Given the description of an element on the screen output the (x, y) to click on. 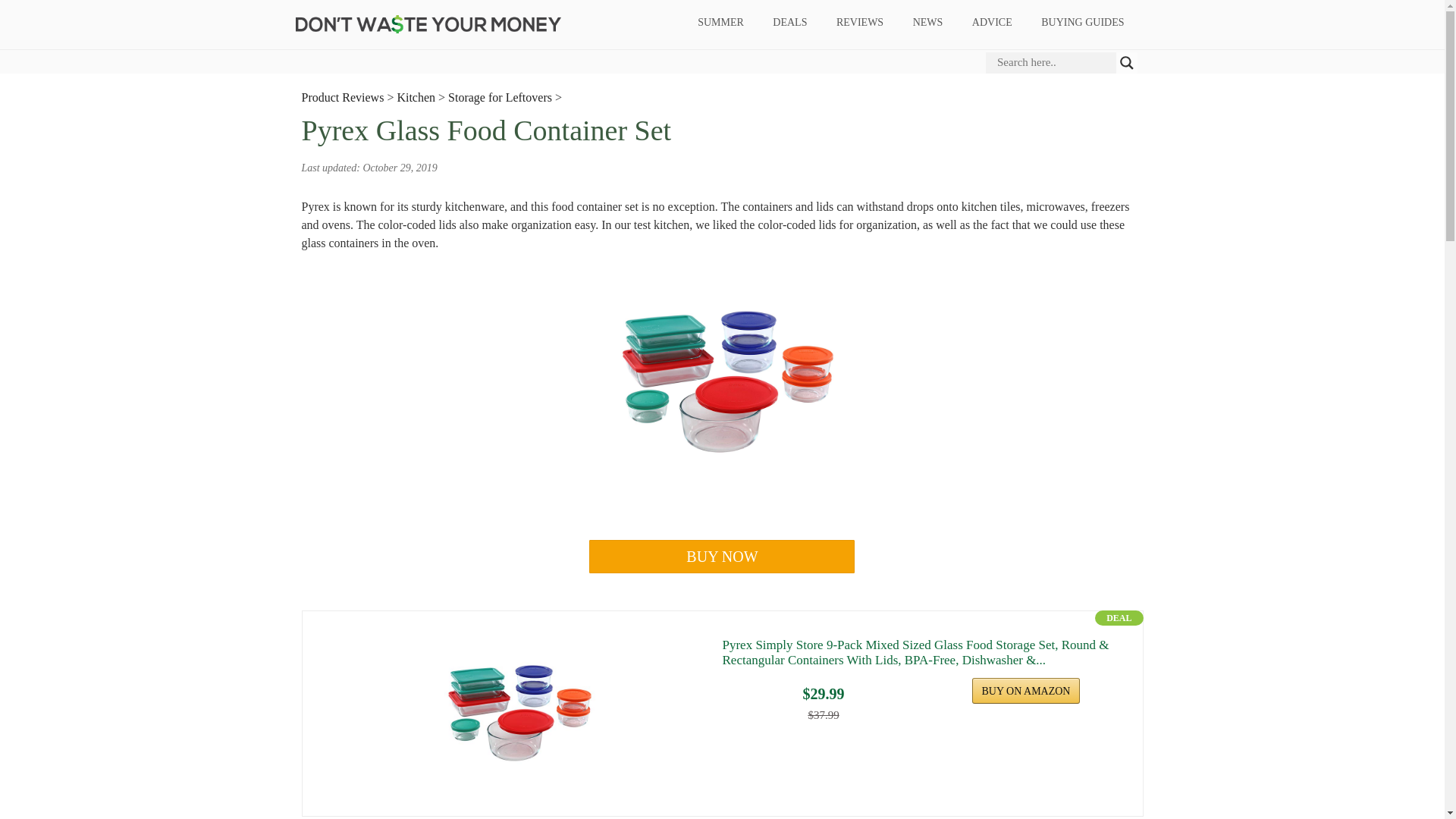
DEALS (790, 22)
ADVICE (991, 22)
Product Reviews (342, 97)
BUY ON AMAZON (1026, 690)
REVIEWS (859, 22)
BUYING GUIDES (1082, 22)
BUY NOW (721, 556)
Storage for Leftovers (499, 97)
NEWS (927, 22)
Kitchen (415, 97)
BUY ON AMAZON (1026, 690)
SUMMER (720, 22)
